Given the description of an element on the screen output the (x, y) to click on. 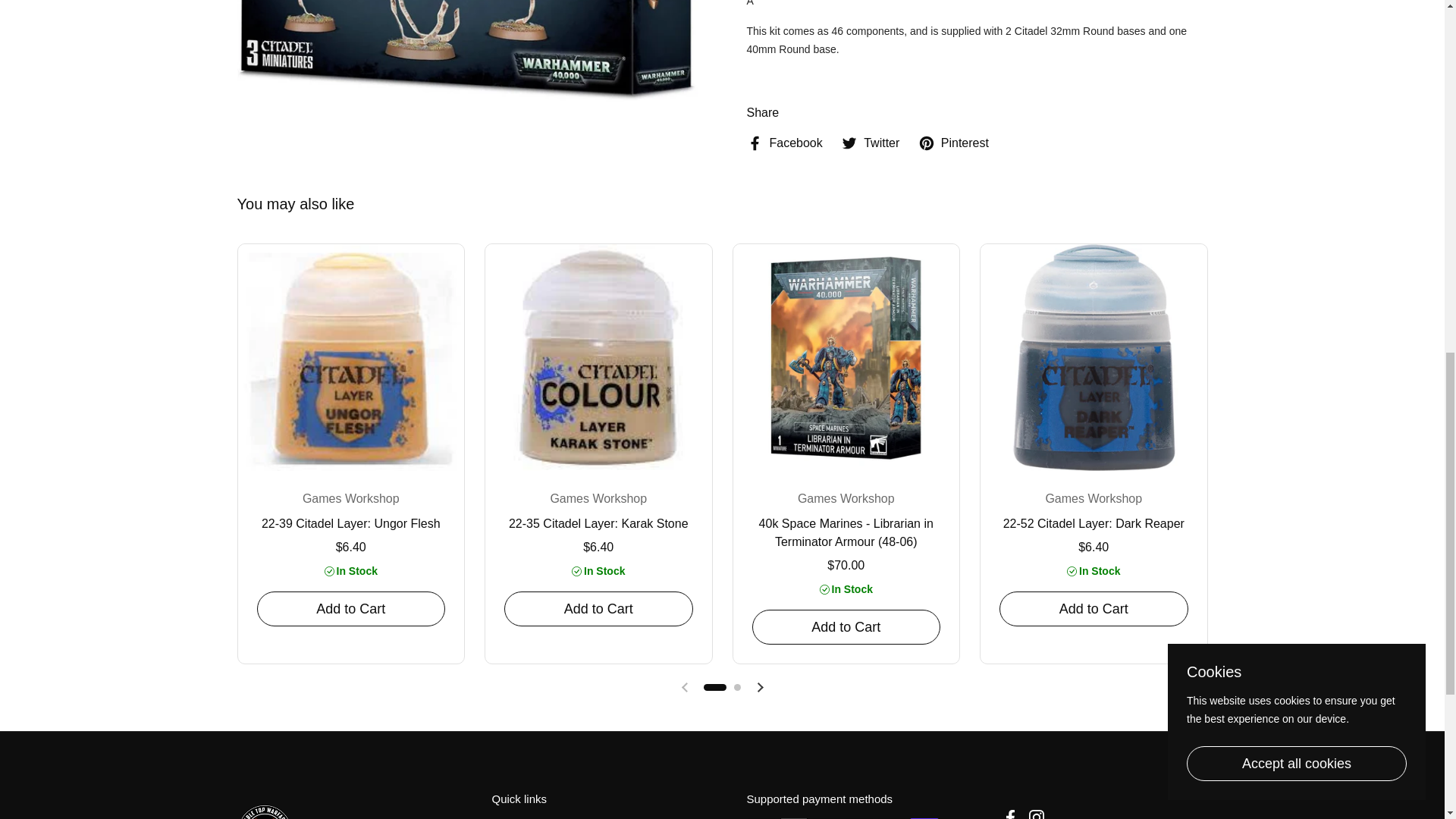
Twitter (870, 143)
Facebook (783, 143)
